Given the description of an element on the screen output the (x, y) to click on. 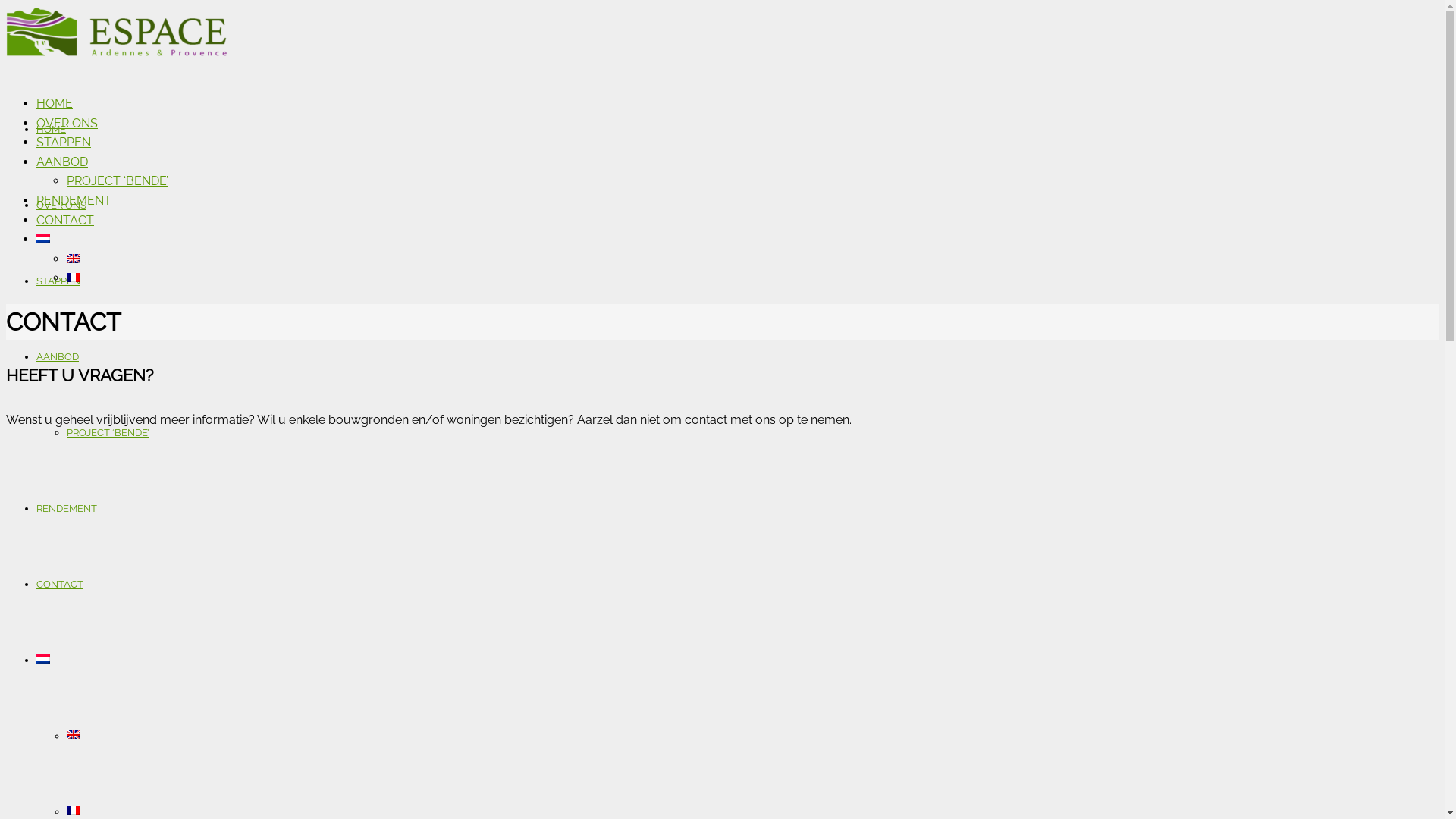
HOME Element type: text (50, 128)
CONTACT Element type: text (59, 583)
AANBOD Element type: text (61, 161)
STAPPEN Element type: text (58, 280)
OVER ONS Element type: text (66, 123)
AANBOD Element type: text (57, 356)
HOME Element type: text (54, 103)
RENDEMENT Element type: text (73, 200)
STAPPEN Element type: text (63, 141)
CONTACT Element type: text (65, 220)
OVER ONS Element type: text (61, 204)
RENDEMENT Element type: text (66, 508)
